Given the description of an element on the screen output the (x, y) to click on. 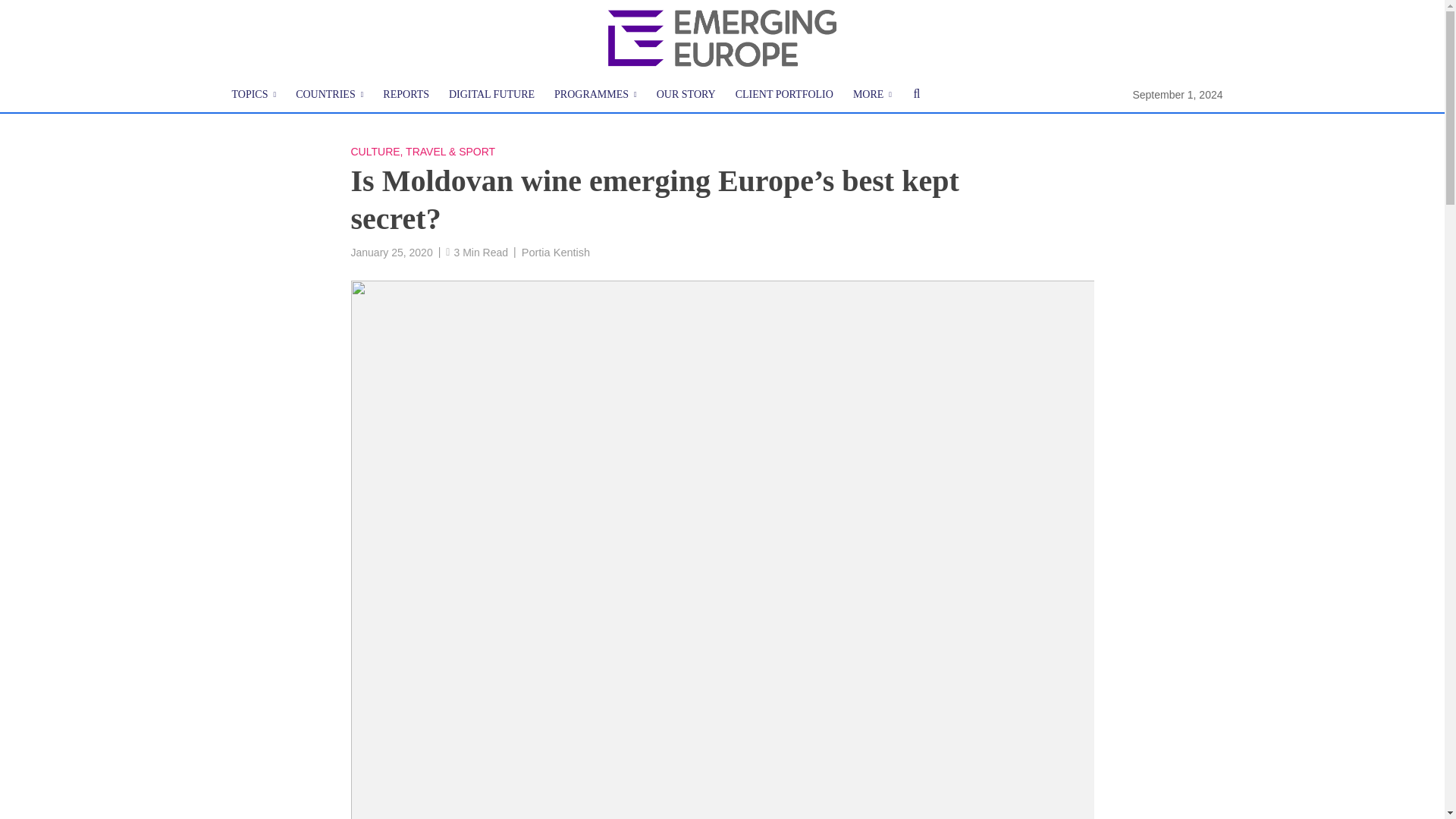
DIGITAL FUTURE (491, 94)
PROGRAMMES (595, 94)
TOPICS (253, 94)
REPORTS (405, 94)
COUNTRIES (328, 94)
